Given the description of an element on the screen output the (x, y) to click on. 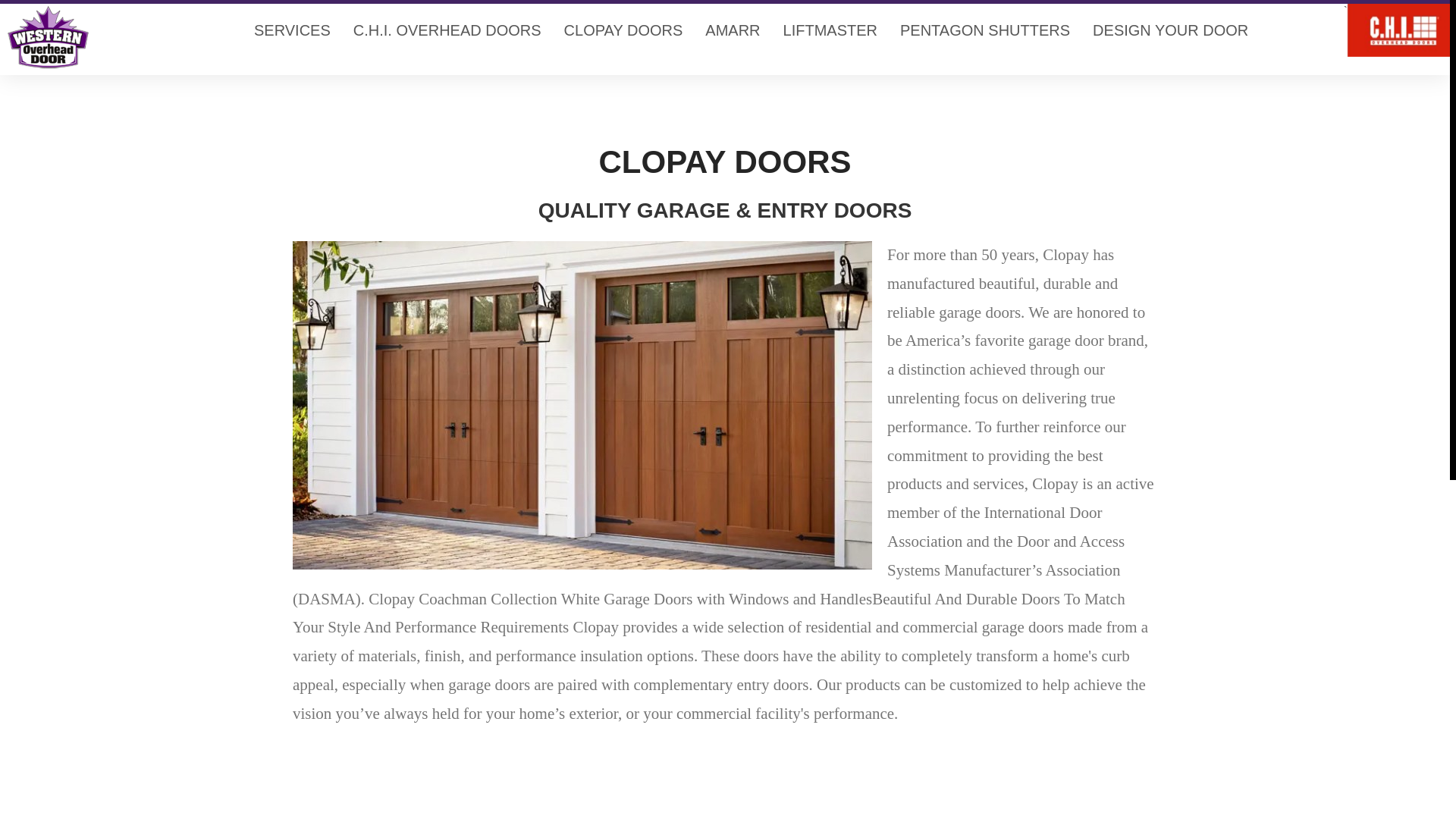
C.H.I. OVERHEAD DOORS (447, 30)
SERVICES (292, 30)
PENTAGON SHUTTERS (984, 30)
LIFTMASTER (829, 30)
DESIGN YOUR DOOR (1170, 30)
CLOPAY DOORS (623, 30)
AMARR (732, 30)
